Given the description of an element on the screen output the (x, y) to click on. 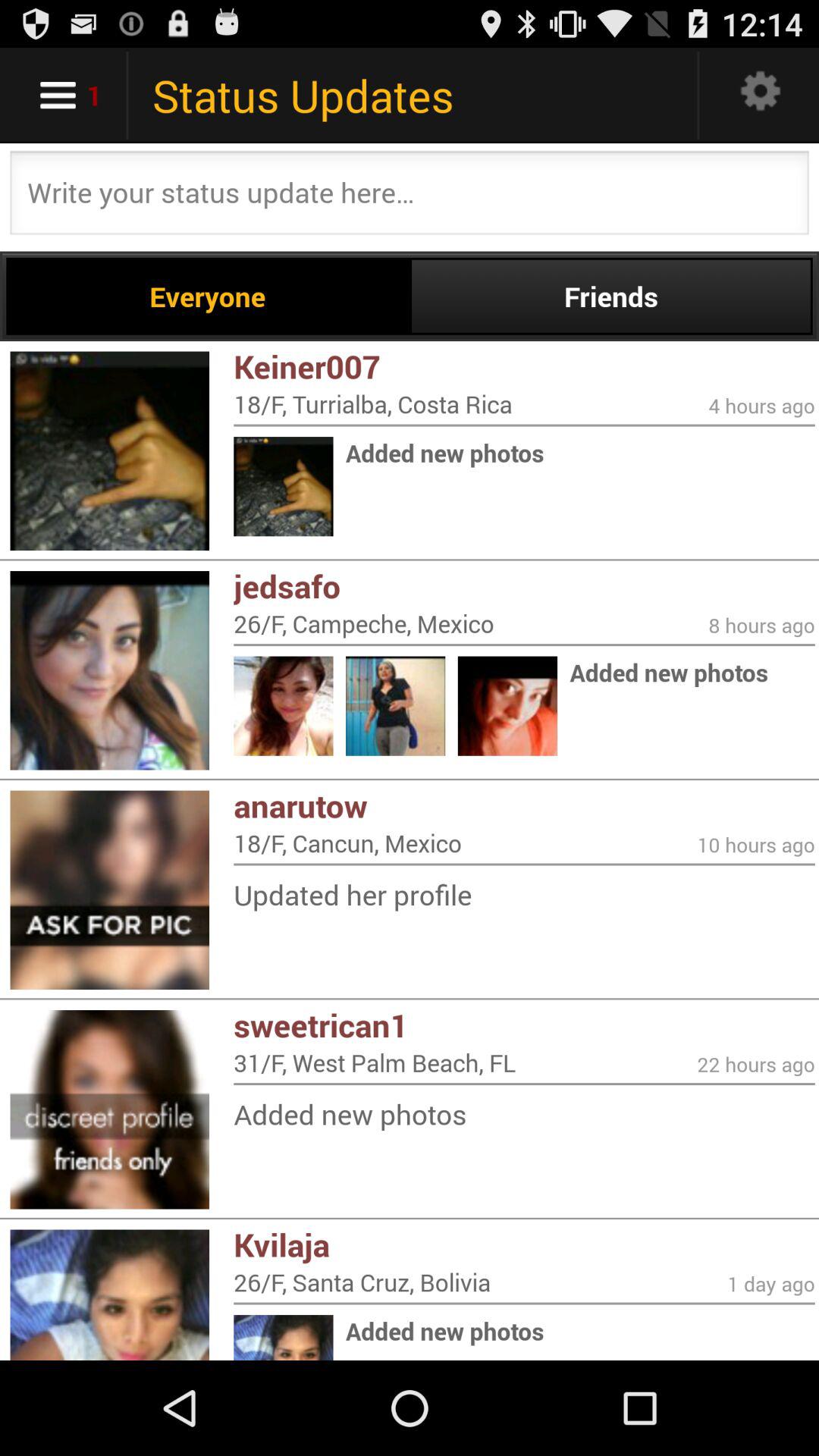
go to settings (761, 95)
